Given the description of an element on the screen output the (x, y) to click on. 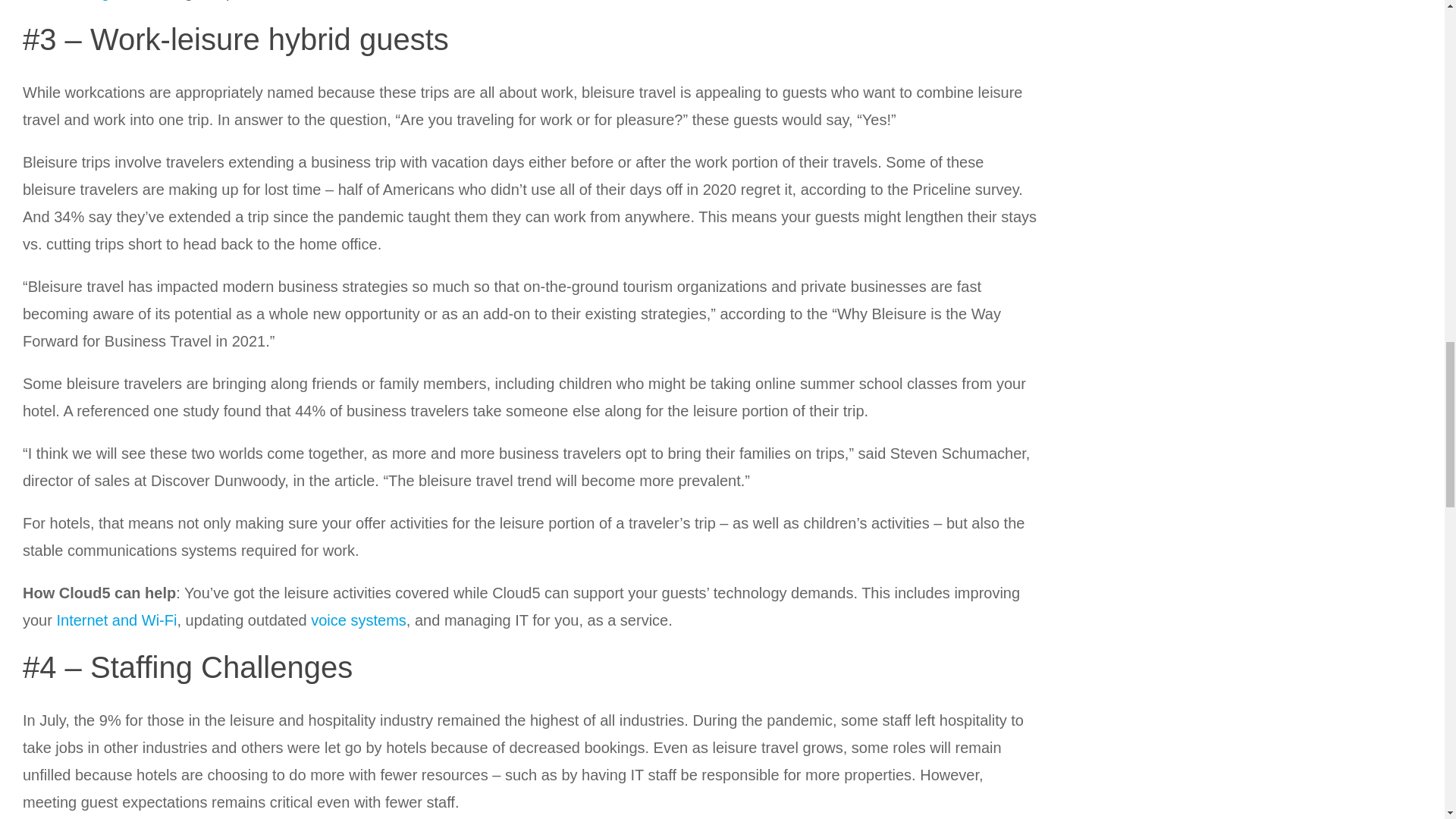
voice systems (358, 619)
Internet and Wi-Fi (116, 619)
